Given the description of an element on the screen output the (x, y) to click on. 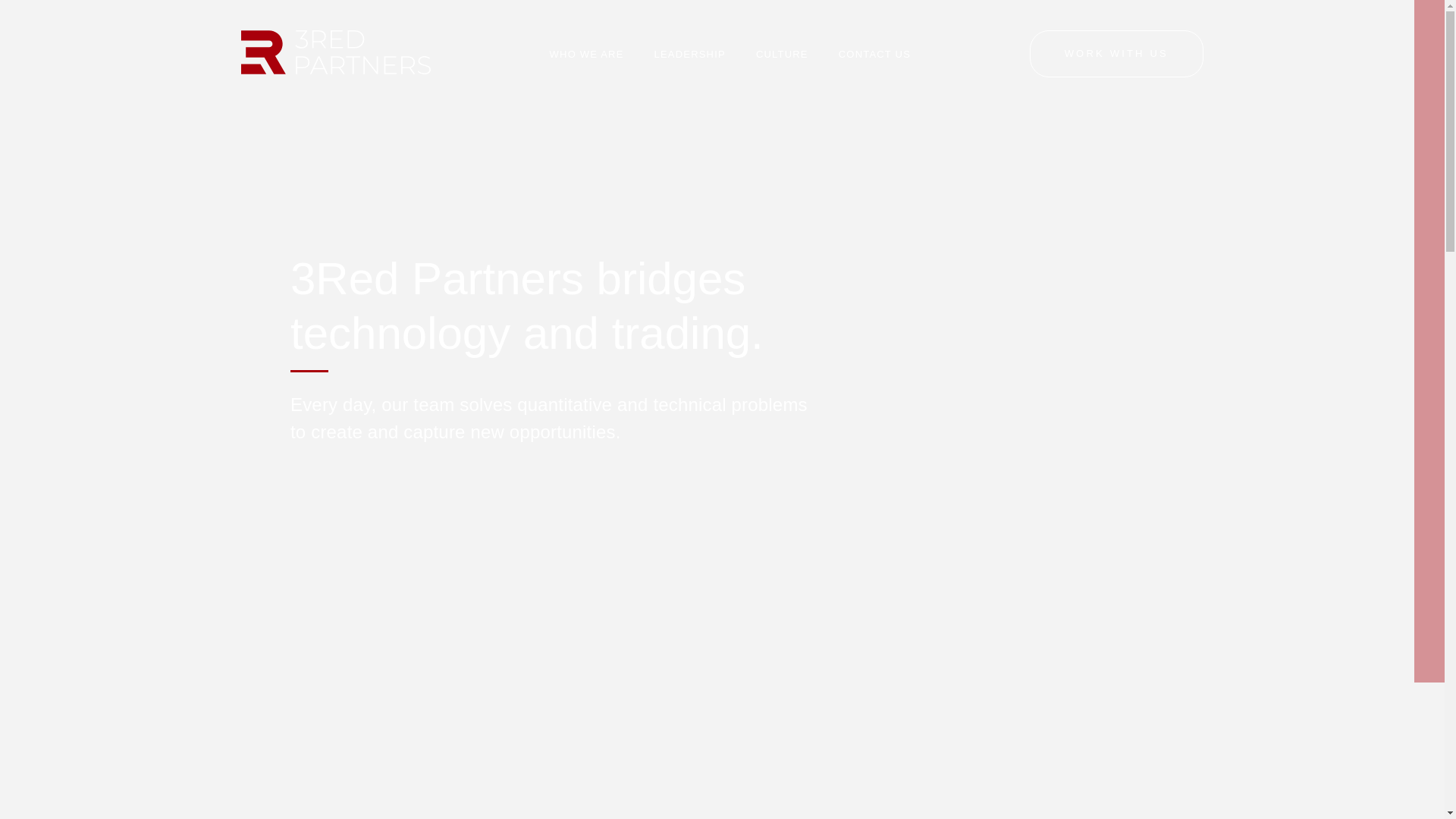
CULTURE Element type: text (782, 53)
CONTACT US Element type: text (874, 53)
WHO WE ARE Element type: text (586, 53)
WORK WITH US Element type: text (1116, 53)
LEADERSHIP Element type: text (689, 53)
